Given the description of an element on the screen output the (x, y) to click on. 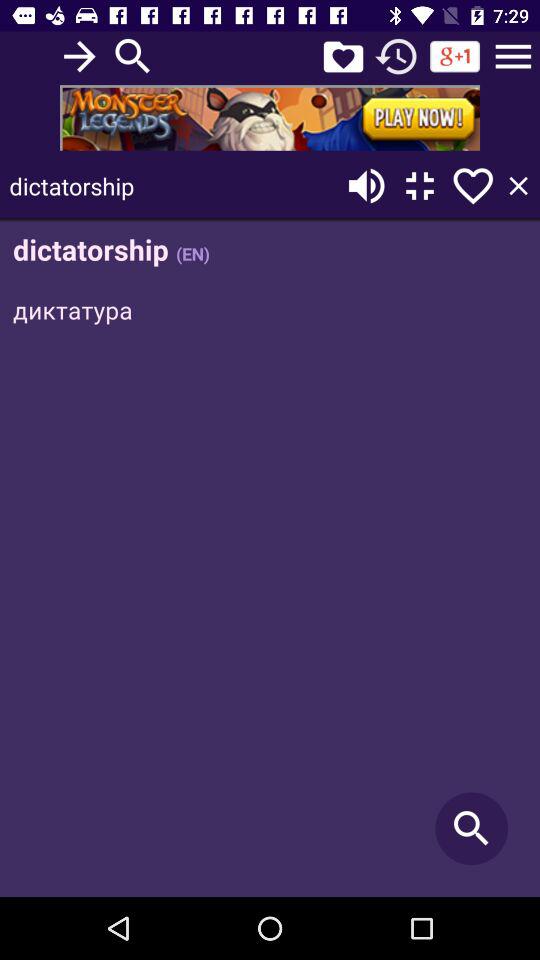
search (133, 56)
